Given the description of an element on the screen output the (x, y) to click on. 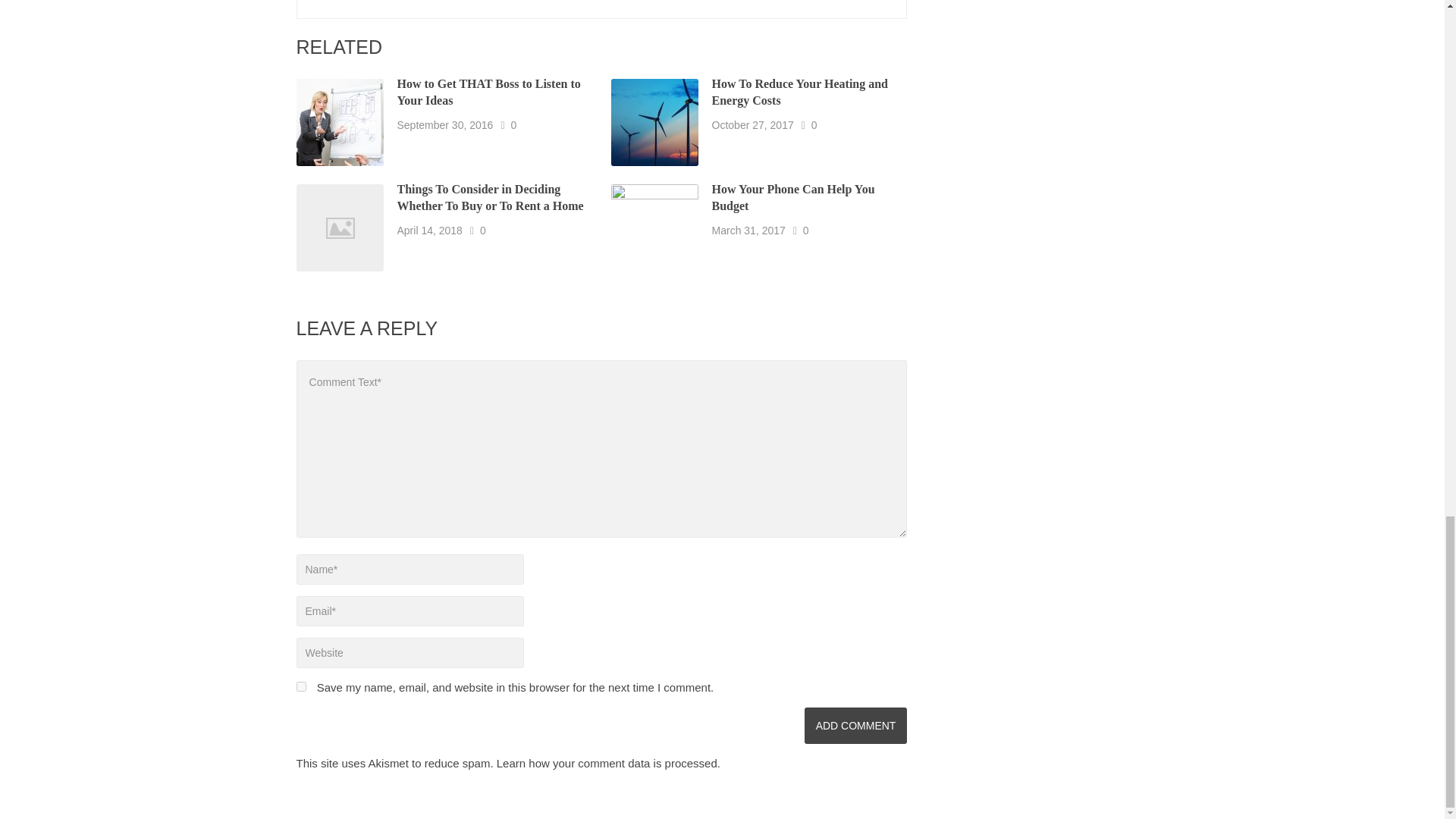
0 (483, 230)
How Your Phone Can Help You Budget (793, 197)
Add Comment (856, 725)
Add Comment (856, 725)
Learn how your comment data is processed (606, 762)
0 (805, 230)
How To Reduce Your Heating and Energy Costs (799, 91)
How to Get THAT Boss to Listen to Your Ideas (488, 91)
How to Get THAT Boss to Listen to Your Ideas (488, 91)
